Given the description of an element on the screen output the (x, y) to click on. 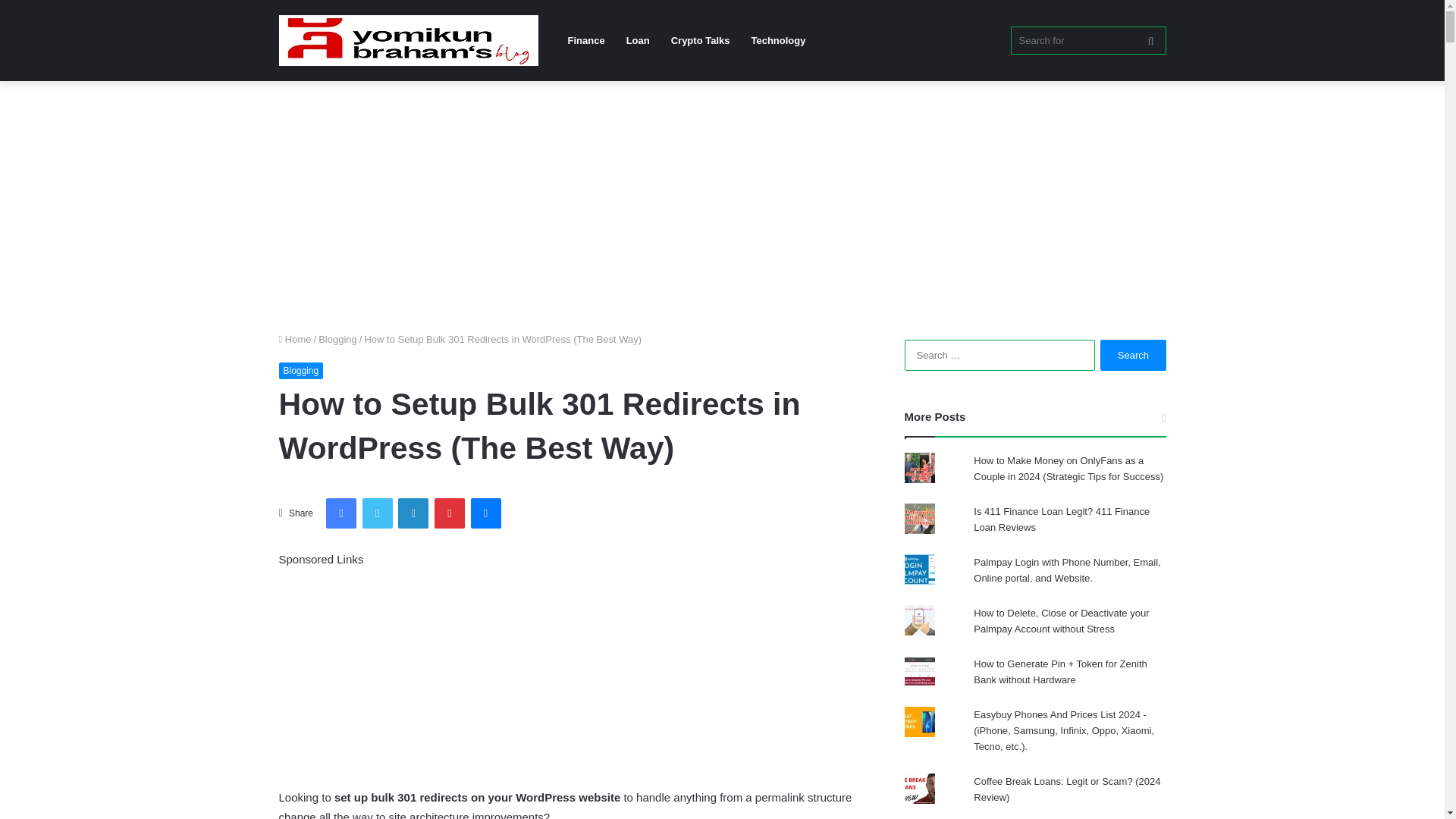
Ayomikun Abraham's Blog (408, 40)
Home (295, 338)
Facebook (341, 512)
Twitter (377, 512)
Messenger (485, 512)
Pinterest (448, 512)
Blogging (301, 370)
LinkedIn (412, 512)
Search for (1088, 40)
